Given the description of an element on the screen output the (x, y) to click on. 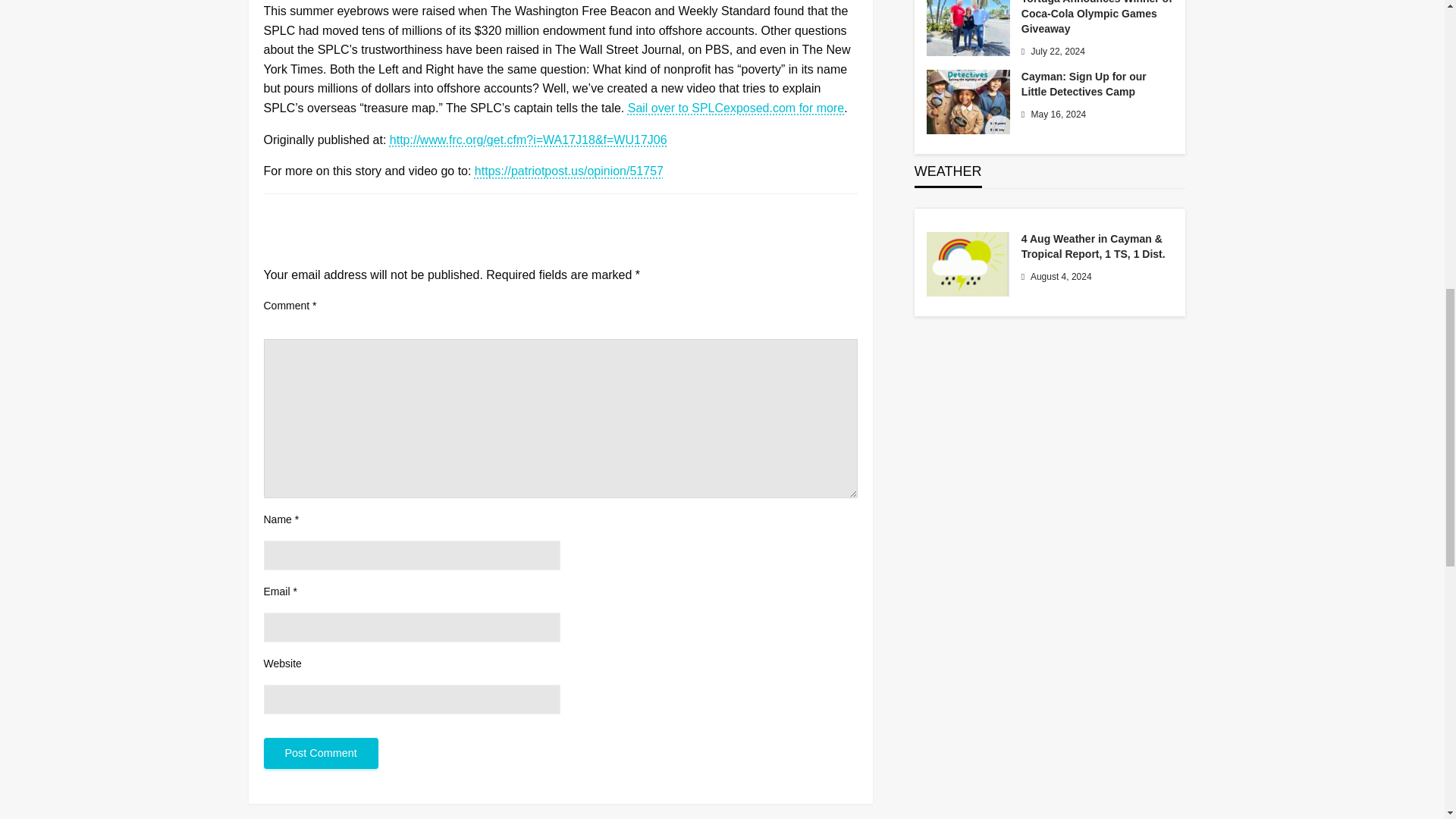
Post Comment (320, 753)
